Given the description of an element on the screen output the (x, y) to click on. 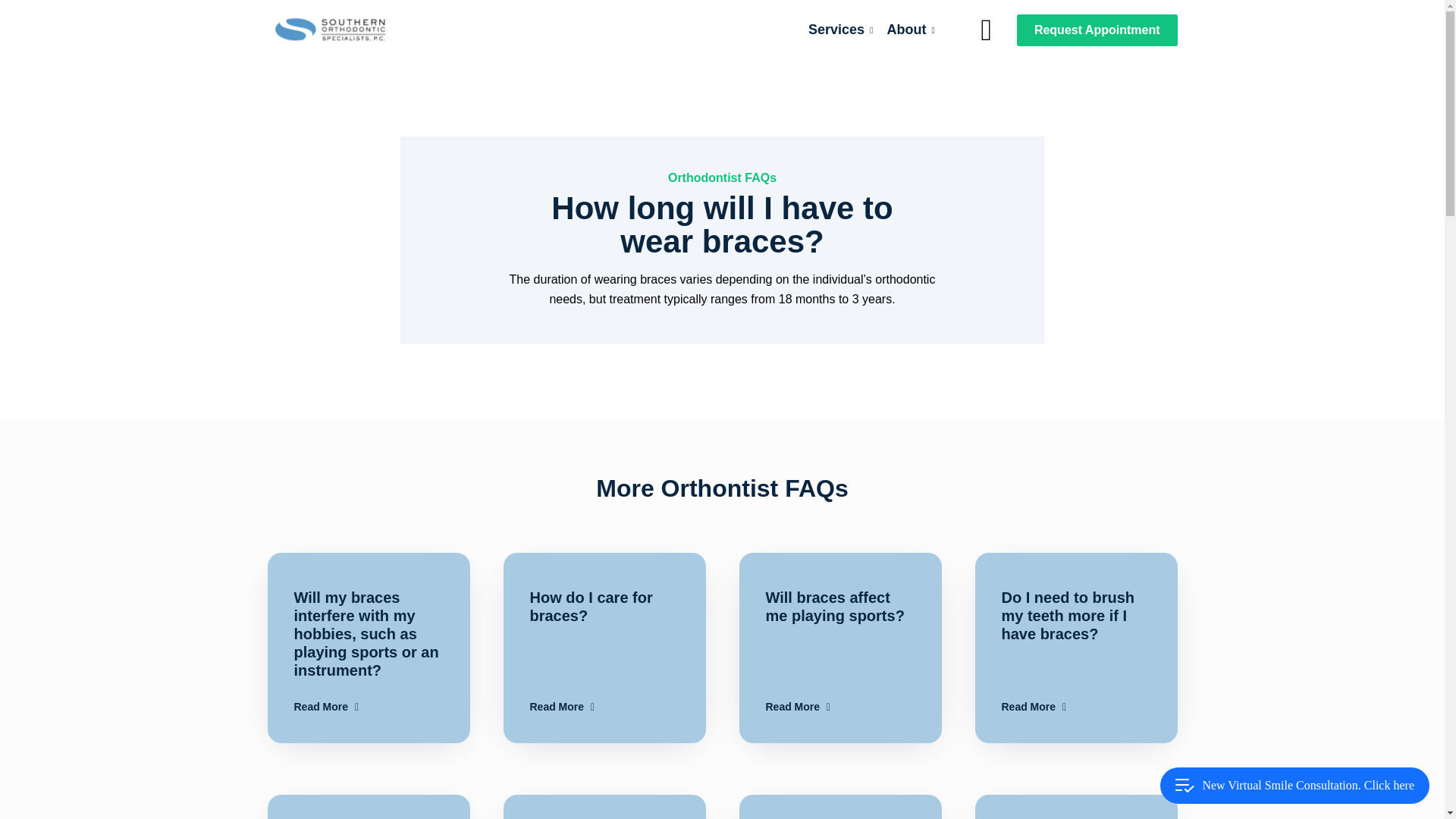
Request Appointment (367, 806)
About (1096, 29)
Services (839, 647)
